Given the description of an element on the screen output the (x, y) to click on. 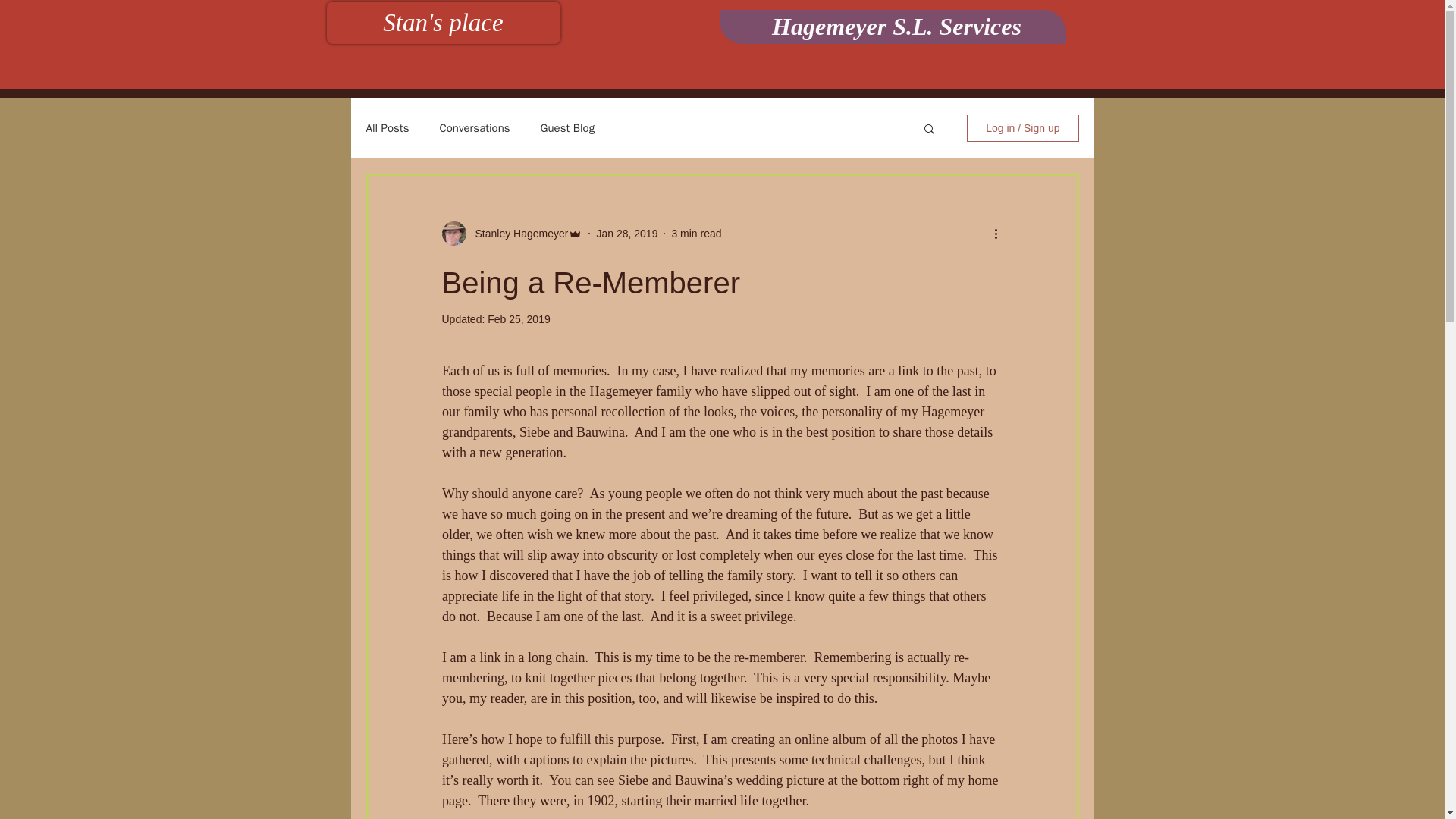
Stanley Hagemeyer (511, 233)
3 min read (695, 233)
Jan 28, 2019 (626, 233)
Conversations (474, 128)
Guest Blog (567, 128)
Stan's place (442, 22)
Feb 25, 2019 (518, 318)
Stanley Hagemeyer (516, 233)
All Posts (387, 128)
